Given the description of an element on the screen output the (x, y) to click on. 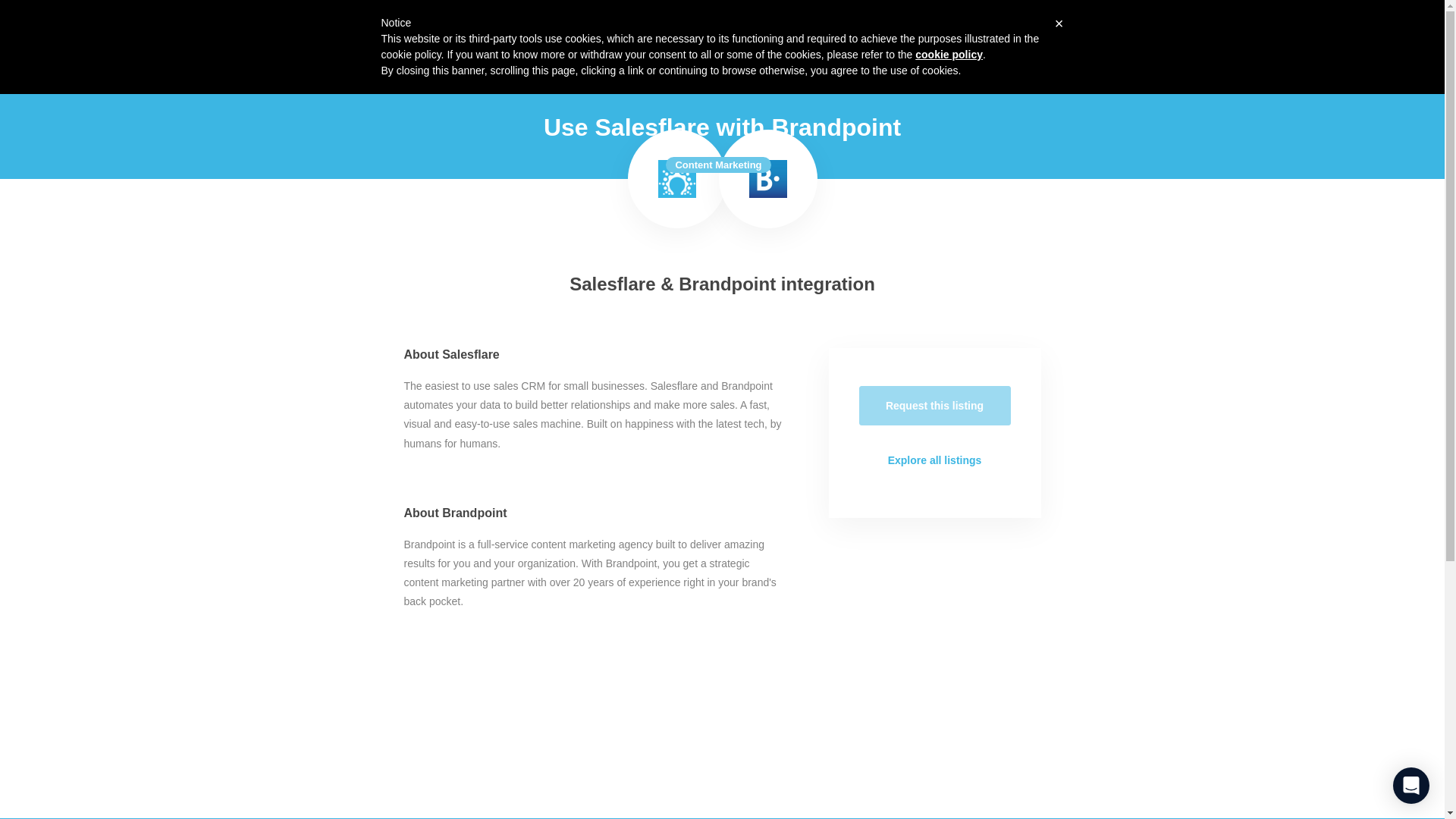
Product Tour (923, 25)
Explore all listings (934, 459)
Pricing (988, 25)
Salesflare (676, 178)
Salesflare (354, 26)
cookie policy (948, 54)
Brandpoint (768, 178)
Try it for free (1098, 26)
Blog (1031, 25)
Request this listing (934, 405)
